Given the description of an element on the screen output the (x, y) to click on. 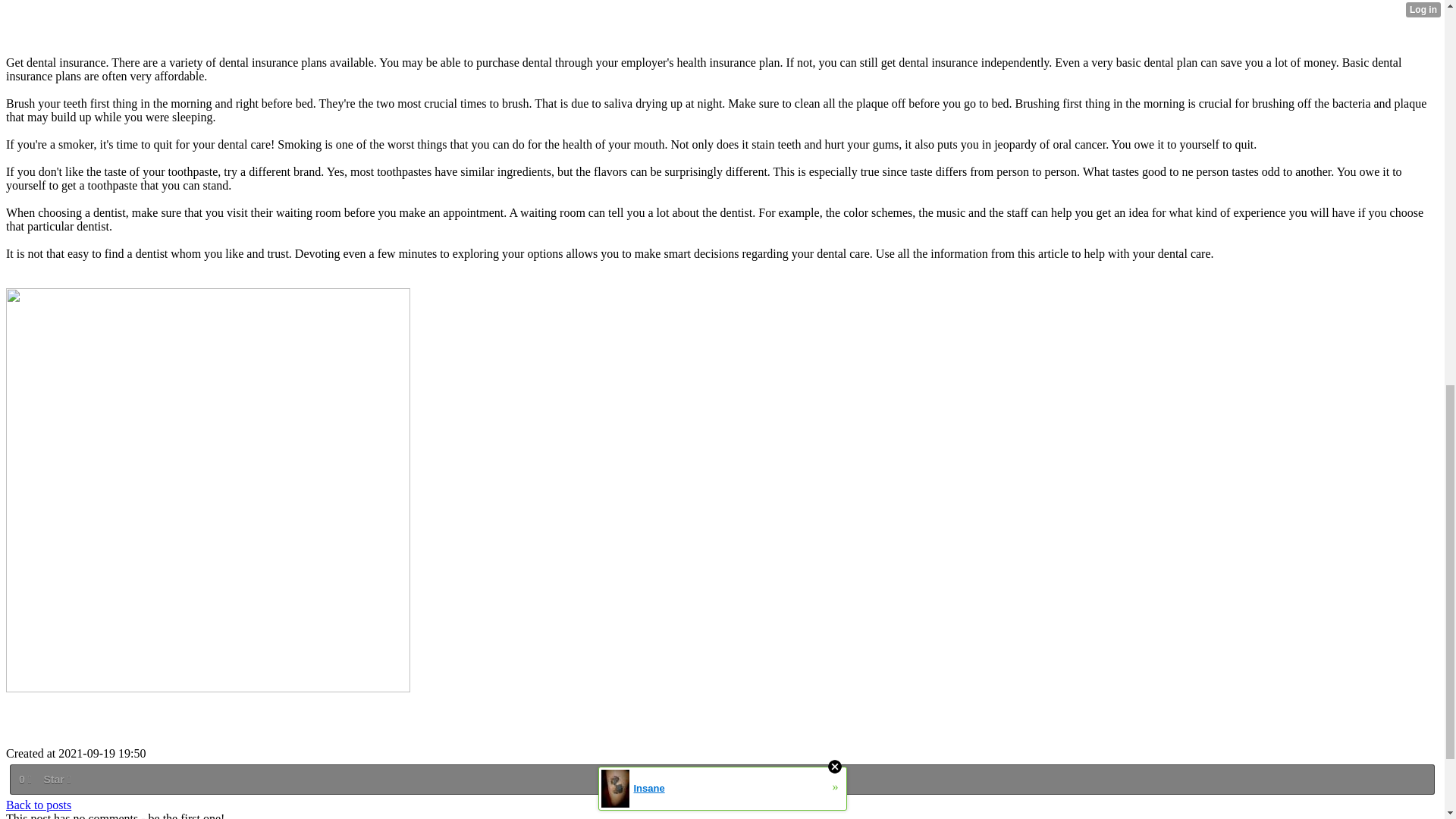
Star (56, 779)
0 (24, 779)
Back to posts (38, 804)
